Given the description of an element on the screen output the (x, y) to click on. 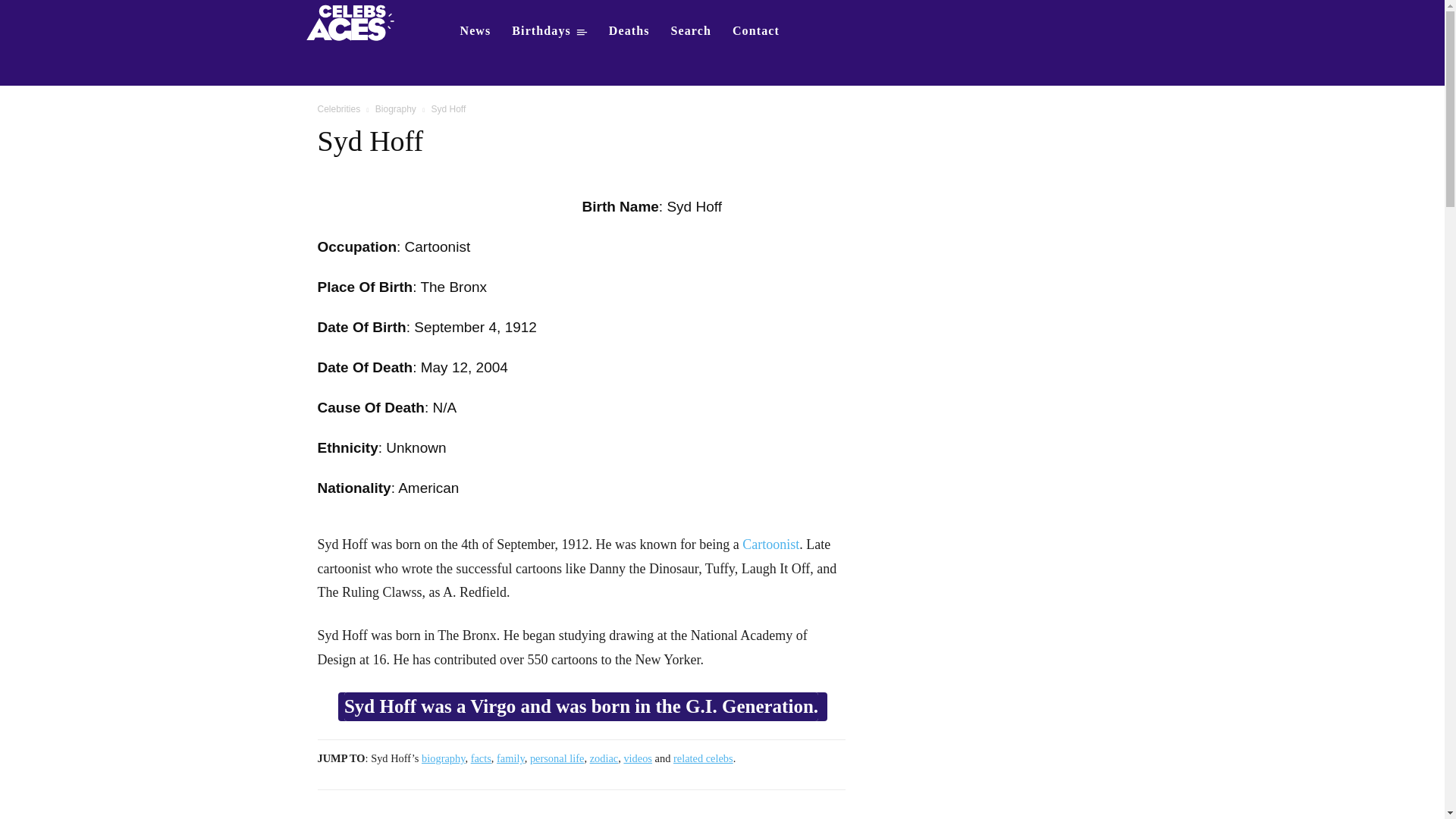
Search (691, 31)
related celebs (702, 758)
Deaths (629, 31)
1912 (521, 326)
News (474, 31)
videos (637, 758)
biography (443, 758)
Biography (395, 109)
Celebrities (338, 109)
Contact (756, 31)
